Given the description of an element on the screen output the (x, y) to click on. 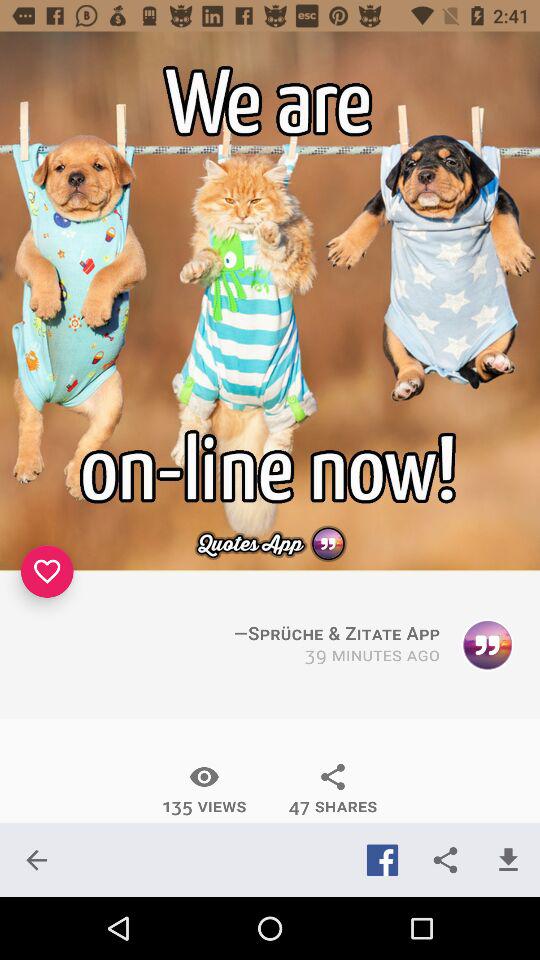
select icon to the left of the 47 shares item (204, 789)
